Given the description of an element on the screen output the (x, y) to click on. 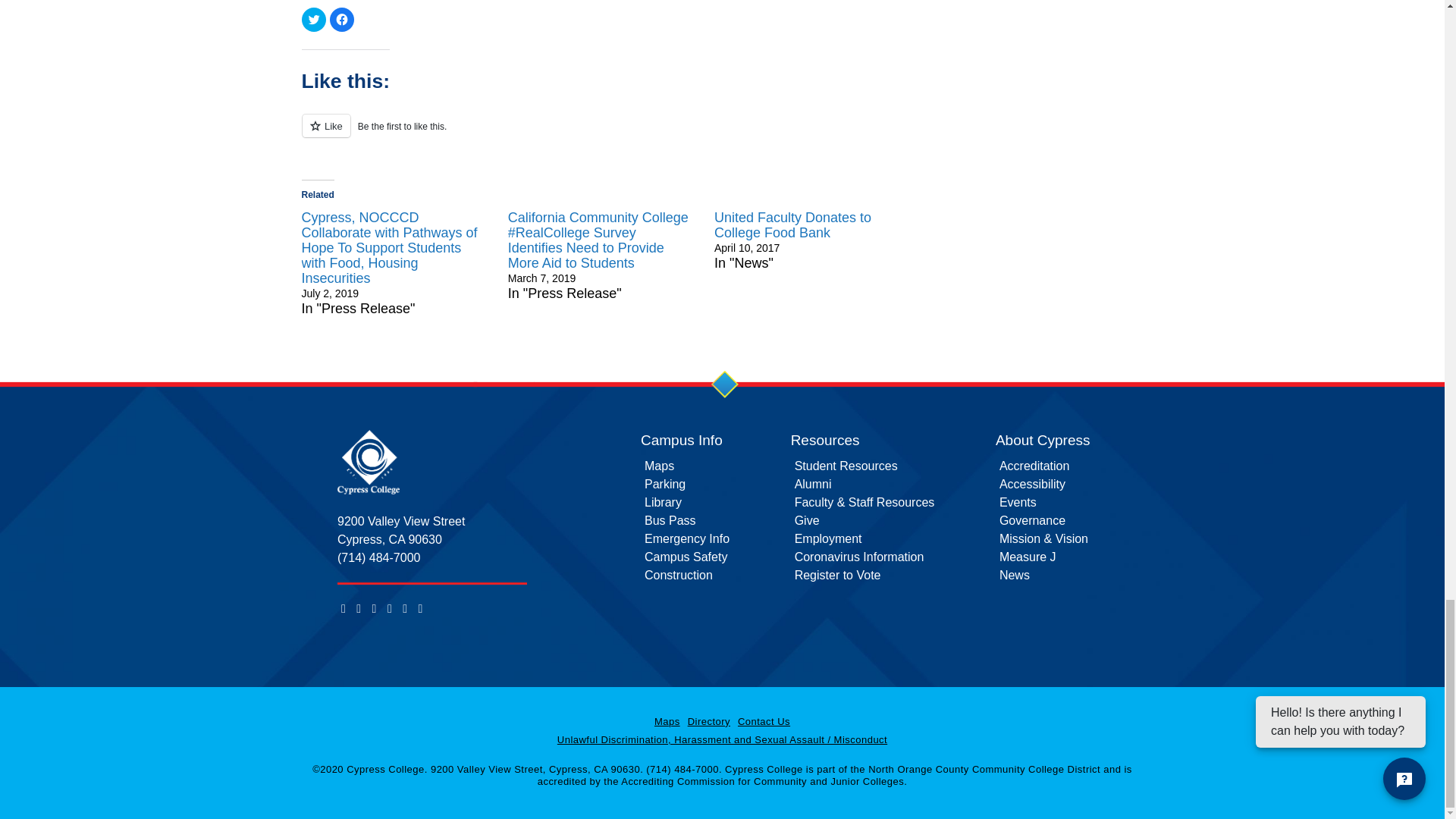
Like or Reblog (614, 134)
Click to share on Facebook (341, 19)
United Faculty Donates to College Food Bank (792, 224)
Click to share on Twitter (313, 19)
